Given the description of an element on the screen output the (x, y) to click on. 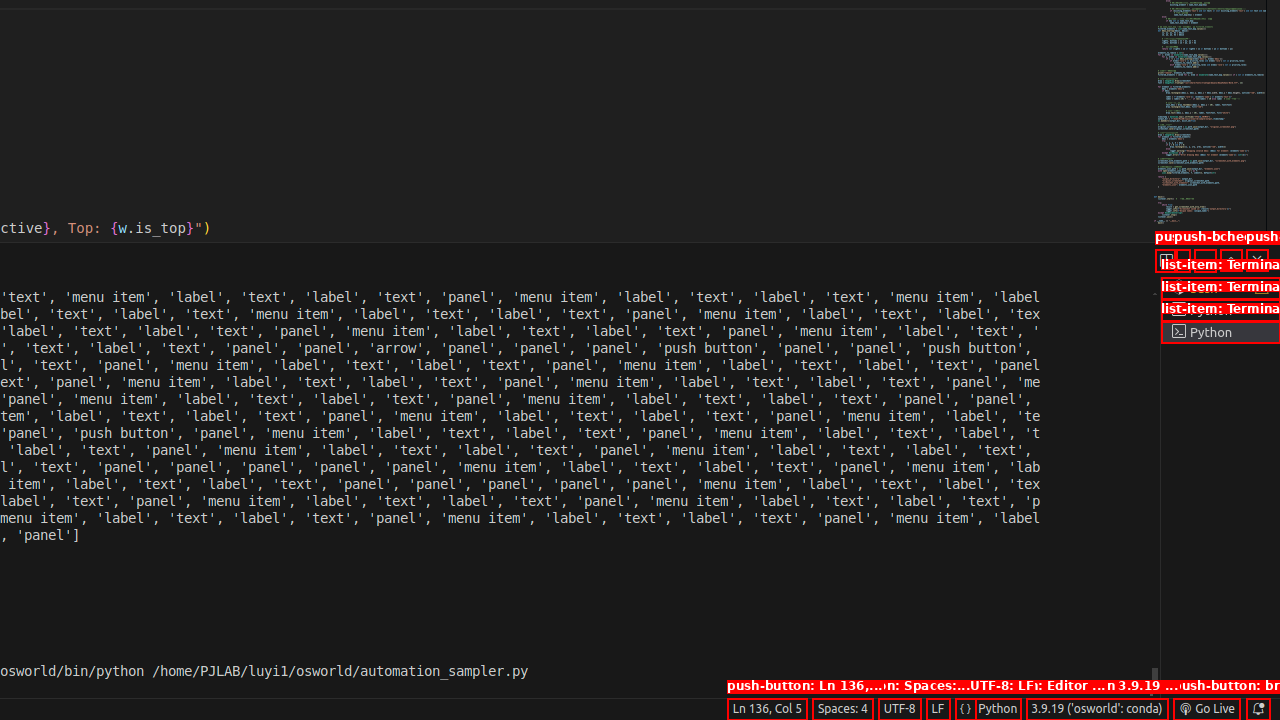
Ln 136, Col 5 Element type: push-button (767, 709)
Python Element type: push-button (998, 709)
UTF-8 Element type: push-button (899, 709)
Spaces: 4 Element type: push-button (842, 709)
New Terminal (Ctrl+Shift+`) [Alt] Split Terminal (Ctrl+Shift+5) Element type: push-button (1166, 260)
